Given the description of an element on the screen output the (x, y) to click on. 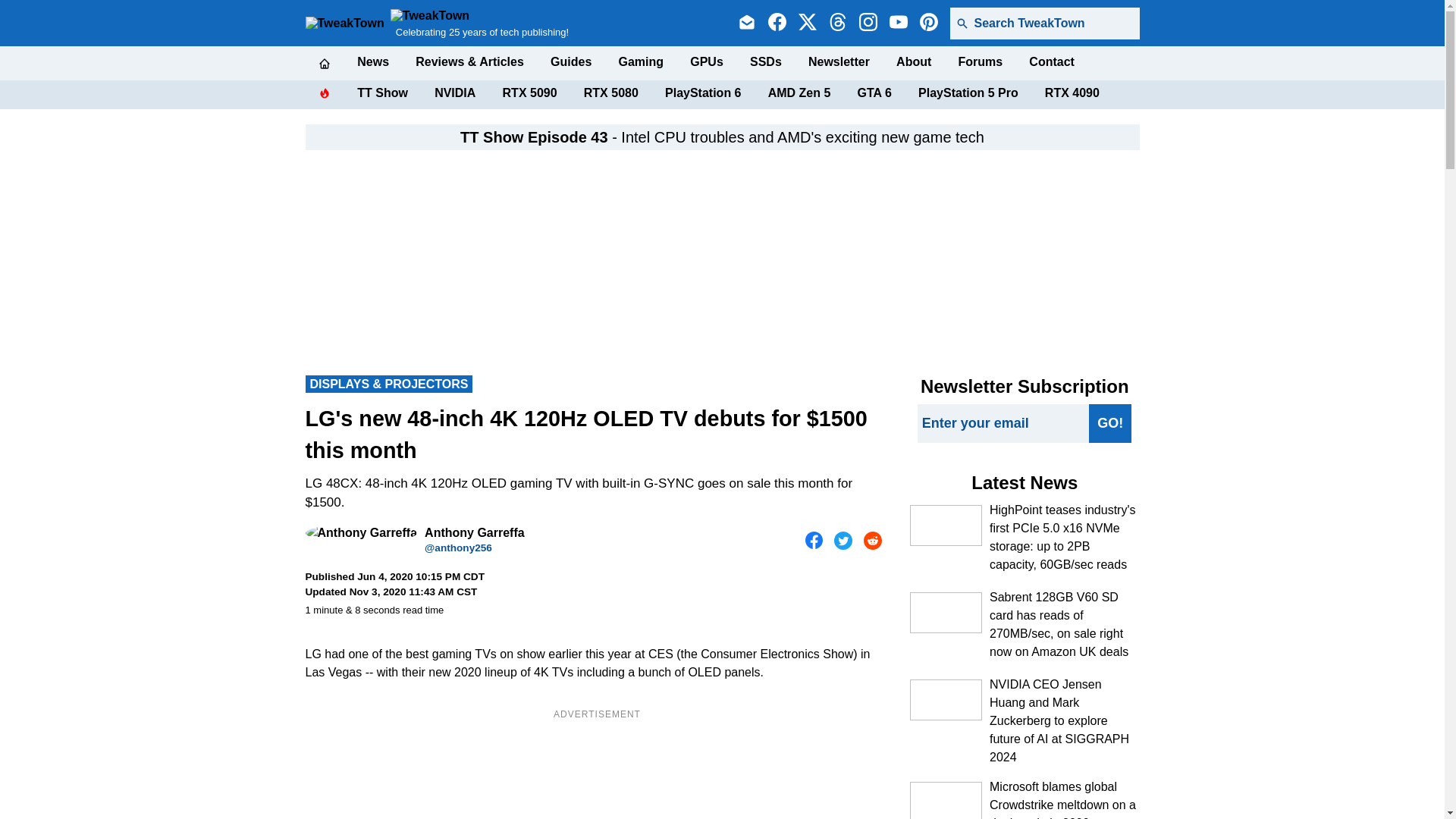
Share on Reddit (871, 540)
Share on Facebook (814, 540)
Share on Twitter (842, 540)
Anthony Garreffa (360, 533)
Celebrating 25 years of tech publishing! (479, 22)
News (372, 61)
GO! (1110, 423)
